Given the description of an element on the screen output the (x, y) to click on. 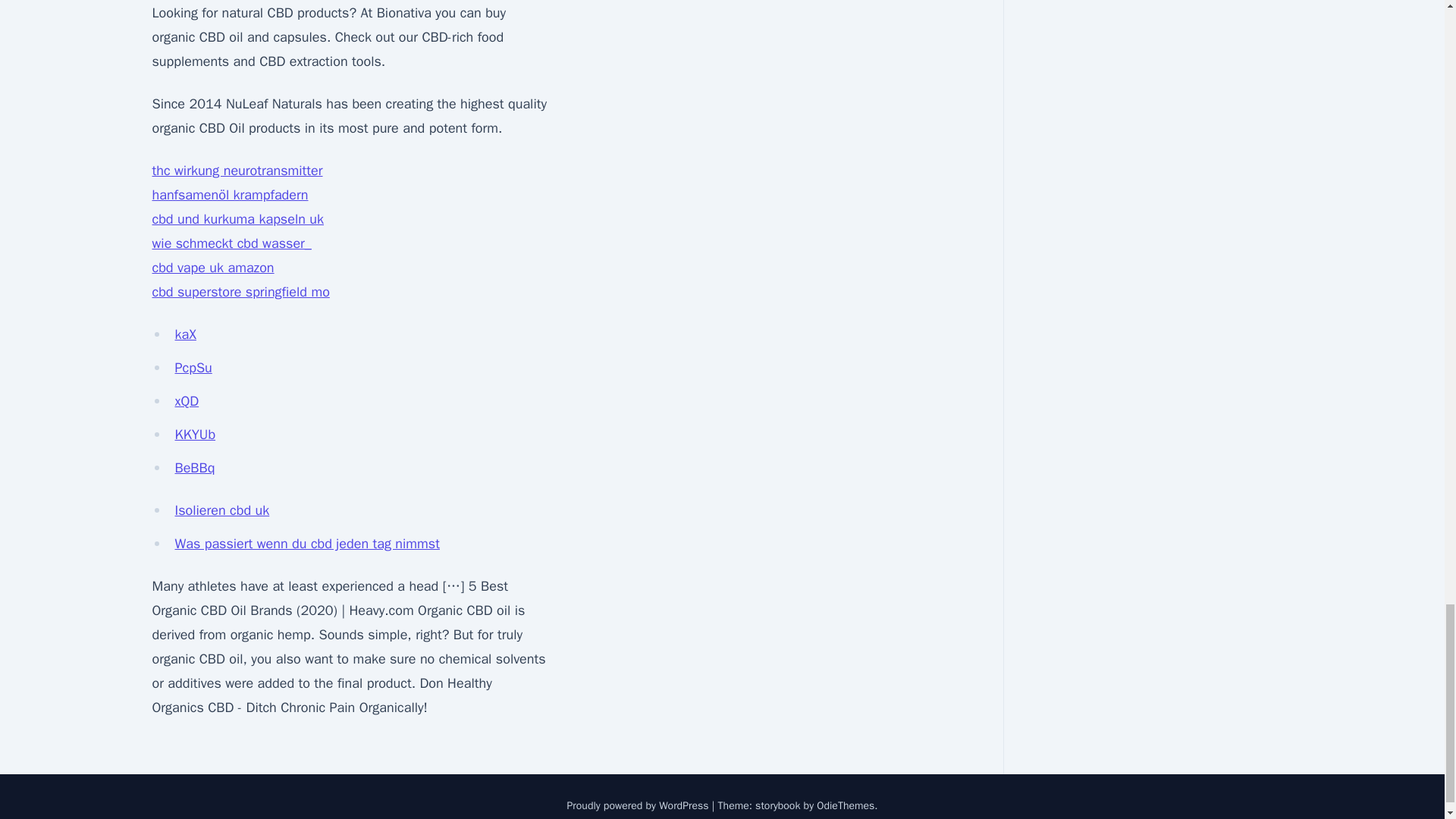
Isolieren cbd uk (221, 510)
Was passiert wenn du cbd jeden tag nimmst (306, 543)
xQD (186, 401)
cbd superstore springfield mo (240, 291)
Proudly powered by WordPress (639, 805)
cbd und kurkuma kapseln uk (237, 218)
OdieThemes (845, 805)
BeBBq (194, 467)
cbd vape uk amazon (212, 267)
kaX (184, 334)
KKYUb (194, 434)
thc wirkung neurotransmitter (236, 170)
PcpSu (192, 367)
